Given the description of an element on the screen output the (x, y) to click on. 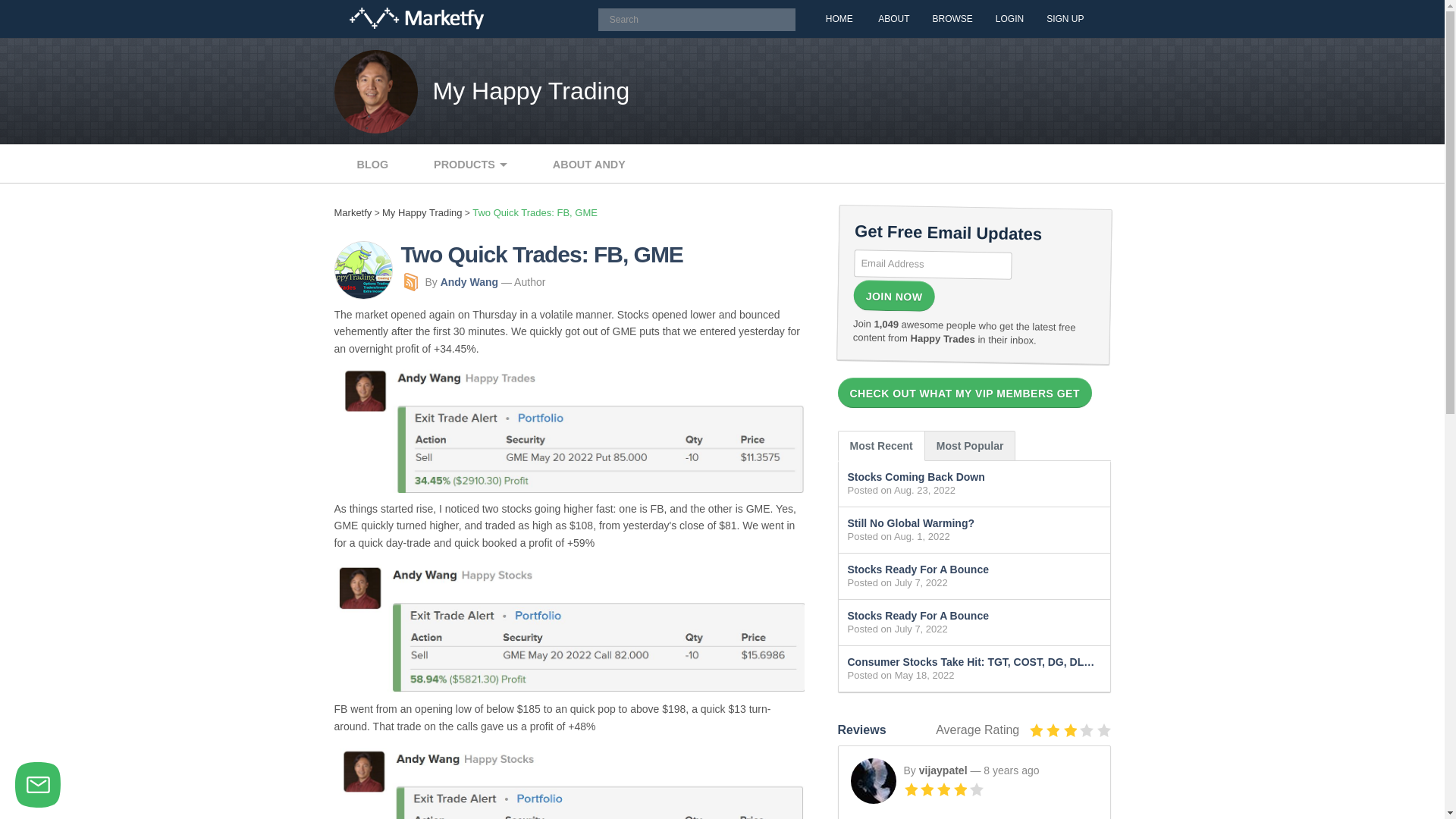
My Happy Trading (422, 212)
My Happy Trading (530, 90)
ABOUT ANDY (589, 164)
HOME (838, 18)
Marketfy (416, 18)
SIGN UP (1064, 18)
ABOUT (893, 18)
LOGIN (1009, 18)
BROWSE (952, 18)
Two Quick Trades: FB, GME (533, 212)
